Given the description of an element on the screen output the (x, y) to click on. 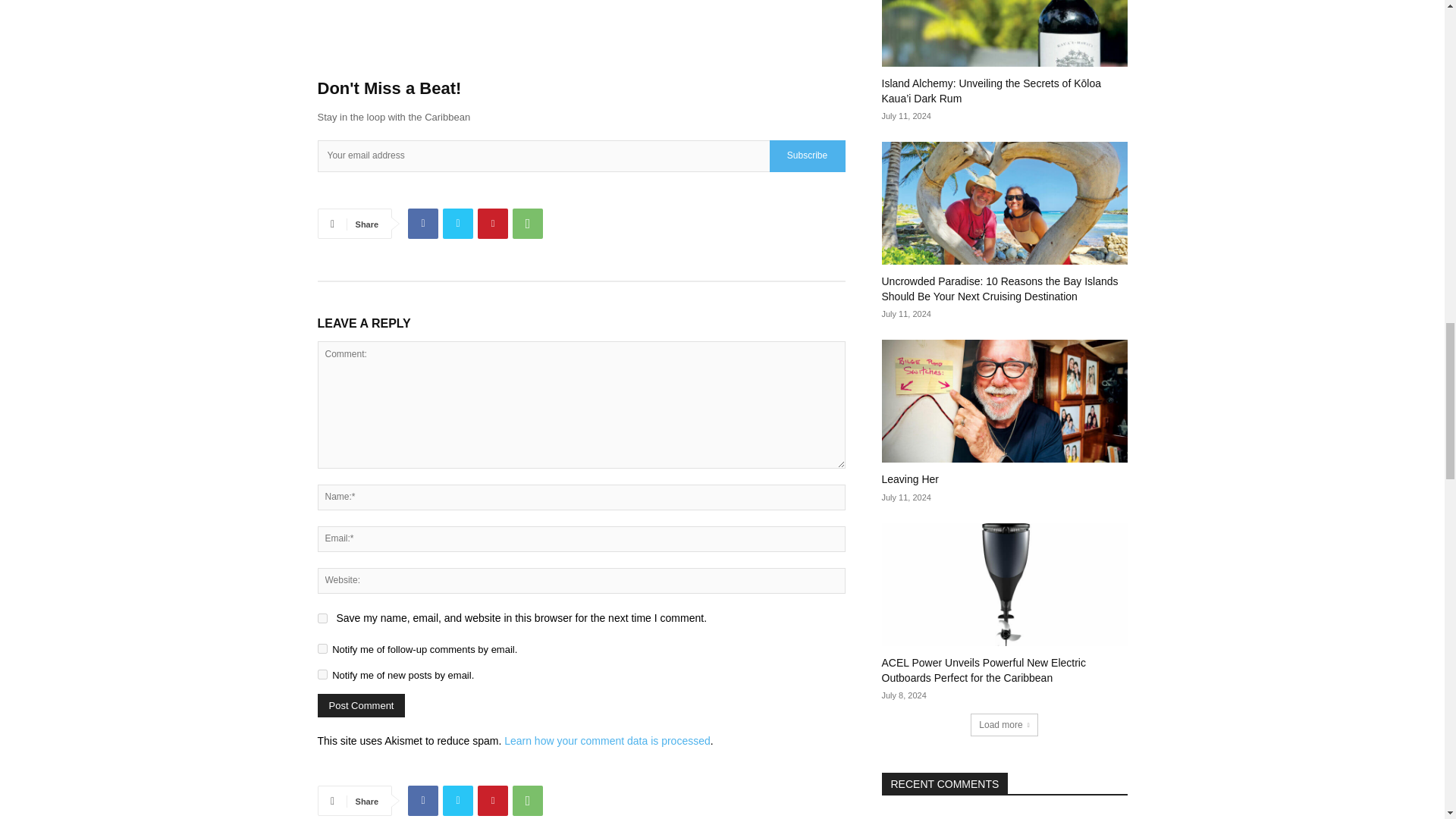
subscribe (321, 648)
subscribe (321, 674)
yes (321, 618)
Post Comment (360, 705)
